Given the description of an element on the screen output the (x, y) to click on. 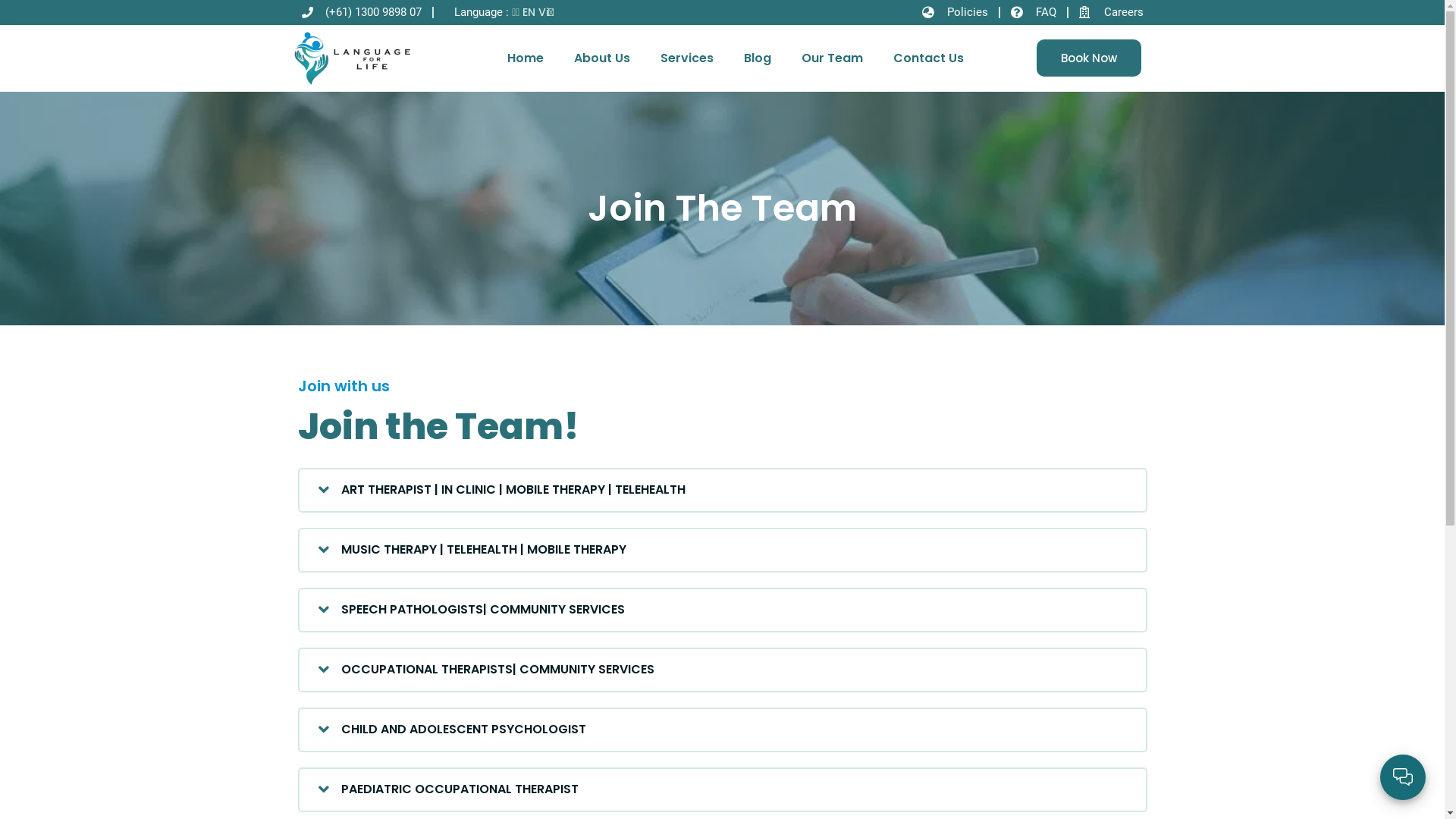
Careers Element type: text (1110, 12)
FAQ Element type: text (1032, 12)
Home Element type: text (525, 57)
Services Element type: text (686, 57)
Contact Us Element type: text (928, 57)
About Us Element type: text (601, 57)
(+61) 1300 9898 07 Element type: text (361, 12)
EN Element type: text (528, 11)
Our Team Element type: text (832, 57)
Policies Element type: text (955, 12)
Blog Element type: text (757, 57)
Book Now Element type: text (1088, 57)
